Given the description of an element on the screen output the (x, y) to click on. 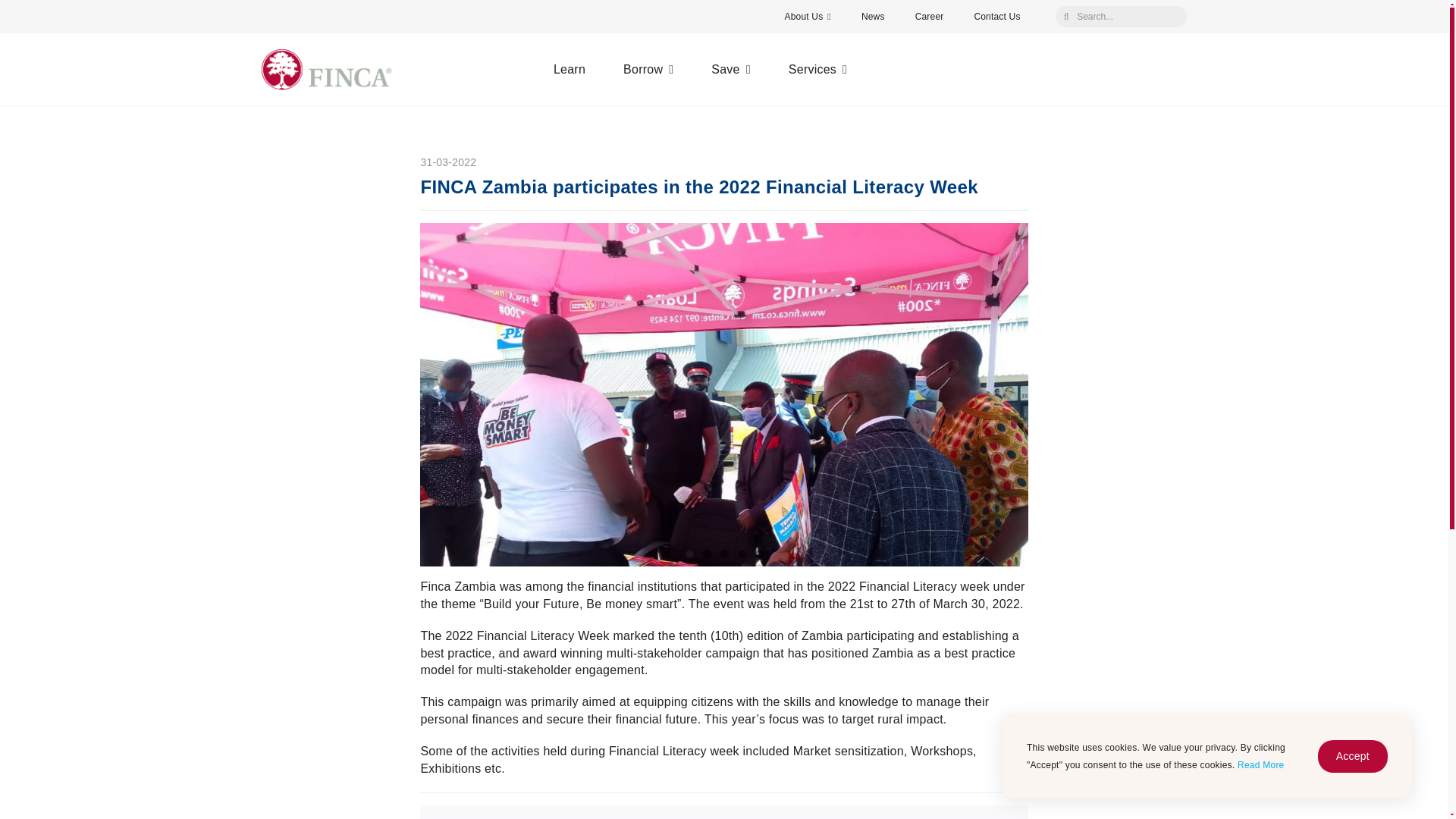
News (872, 16)
Borrow (648, 69)
1 (689, 553)
About Us (807, 16)
3 (724, 553)
Services (817, 69)
2 (705, 553)
Career (929, 16)
5 (758, 553)
4 (740, 553)
Contact Us (996, 16)
